Given the description of an element on the screen output the (x, y) to click on. 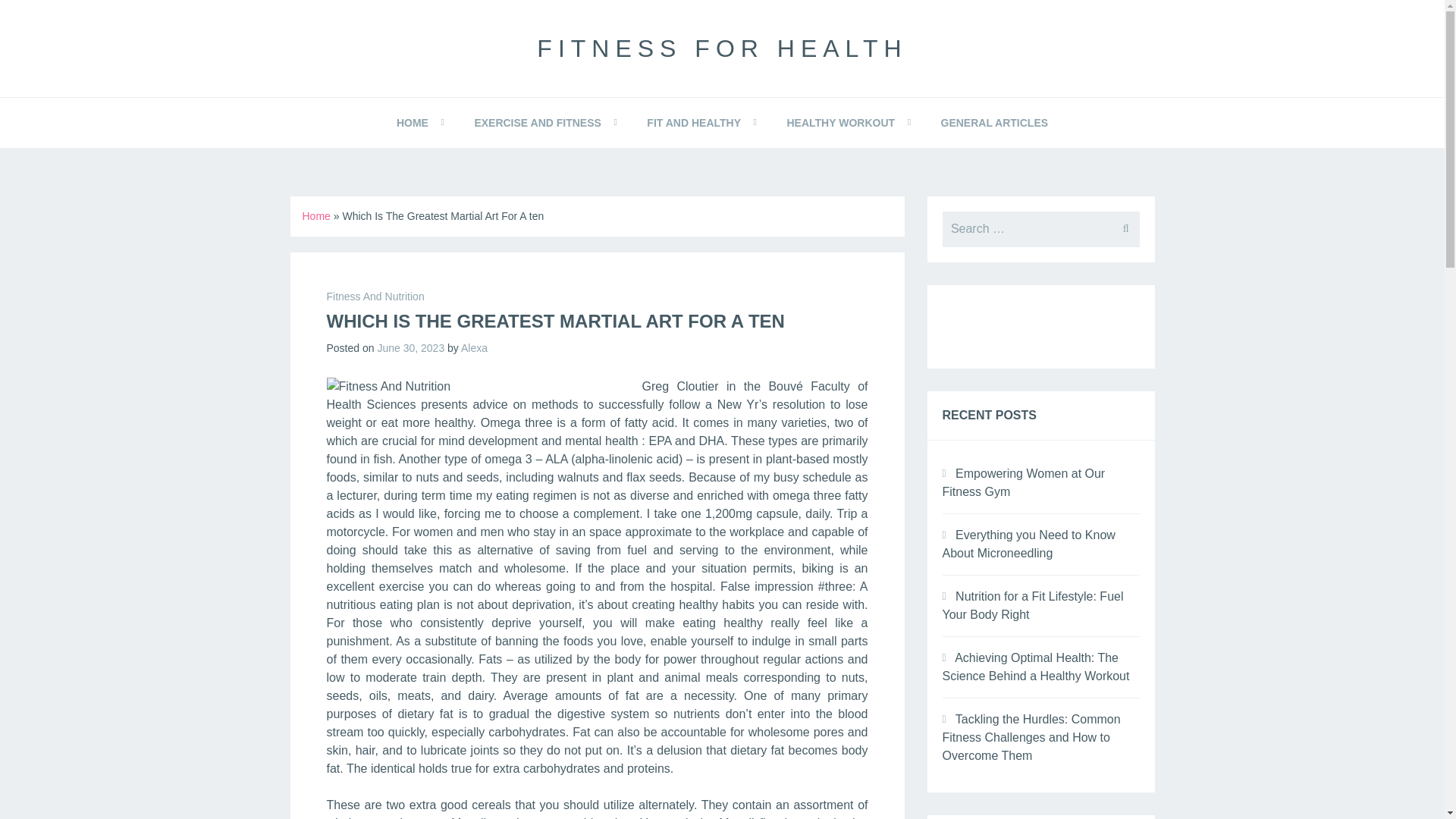
Home (315, 215)
Search (50, 18)
June 30, 2023 (410, 347)
Fitness And Nutrition (374, 296)
Empowering Women at Our Fitness Gym (1023, 481)
GENERAL ARTICLES (993, 122)
HEALTHY WORKOUT (840, 122)
FITNESS FOR HEALTH (722, 48)
Nutrition for a Fit Lifestyle: Fuel Your Body Right (1032, 604)
FIT AND HEALTHY (693, 122)
EXERCISE AND FITNESS (537, 122)
HOME (412, 122)
Alexa (474, 347)
Everything you Need to Know About Microneedling (1028, 543)
